Given the description of an element on the screen output the (x, y) to click on. 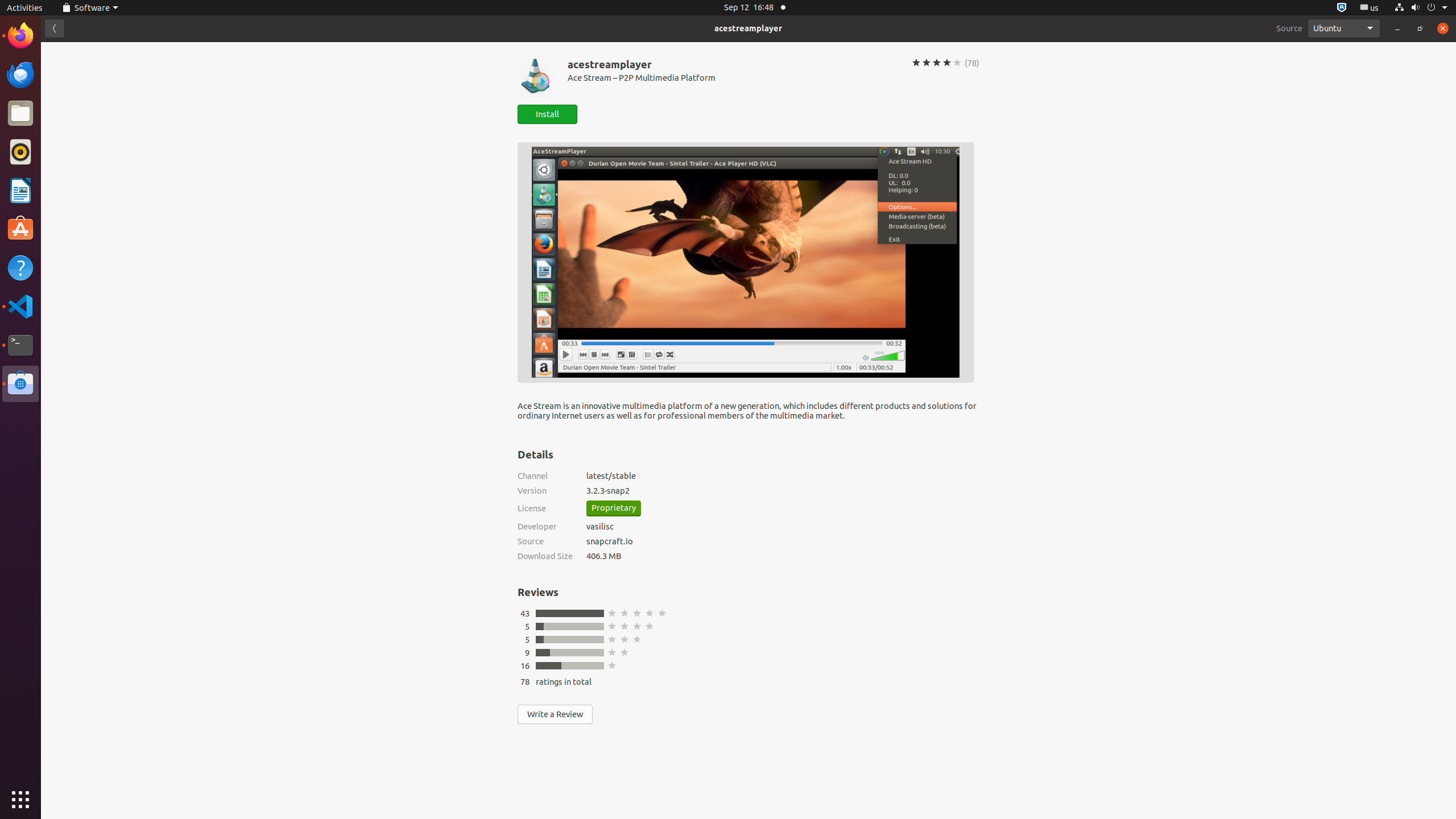
vasilisc Element type: label (599, 526)
License Element type: label (544, 508)
Version Element type: label (544, 490)
IsaHelpMain.desktop Element type: label (75, 170)
